Given the description of an element on the screen output the (x, y) to click on. 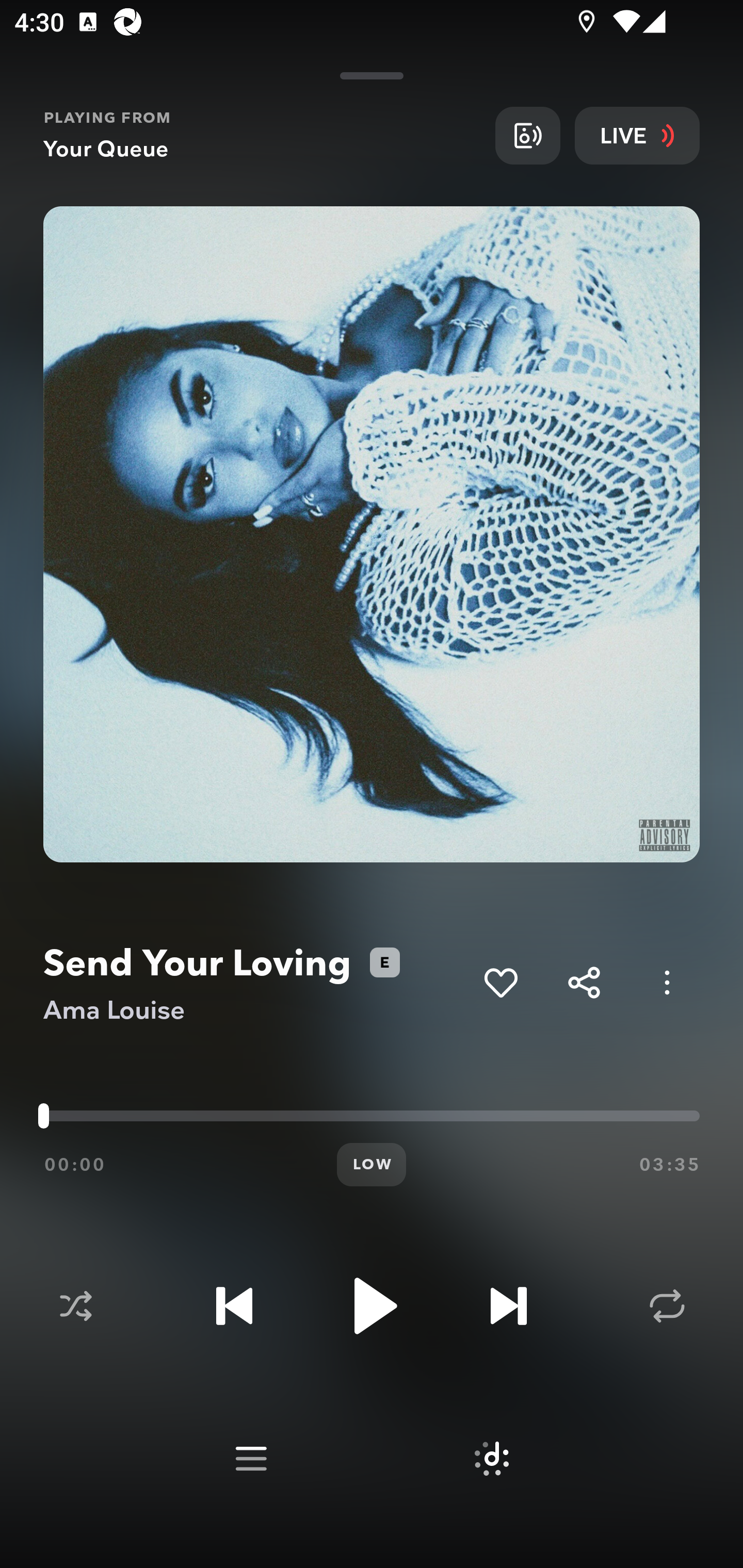
Broadcast (527, 135)
LIVE (637, 135)
PLAYING FROM Your Queue (261, 135)
Send Your Loving    Ama Louise (255, 983)
Add to My Collection (500, 982)
Share (583, 982)
Options (666, 982)
LOW (371, 1164)
Play (371, 1306)
Previous (234, 1306)
Next (508, 1306)
Shuffle disabled (75, 1306)
Repeat Off (666, 1306)
Play queue (250, 1458)
Suggested tracks (491, 1458)
